Given the description of an element on the screen output the (x, y) to click on. 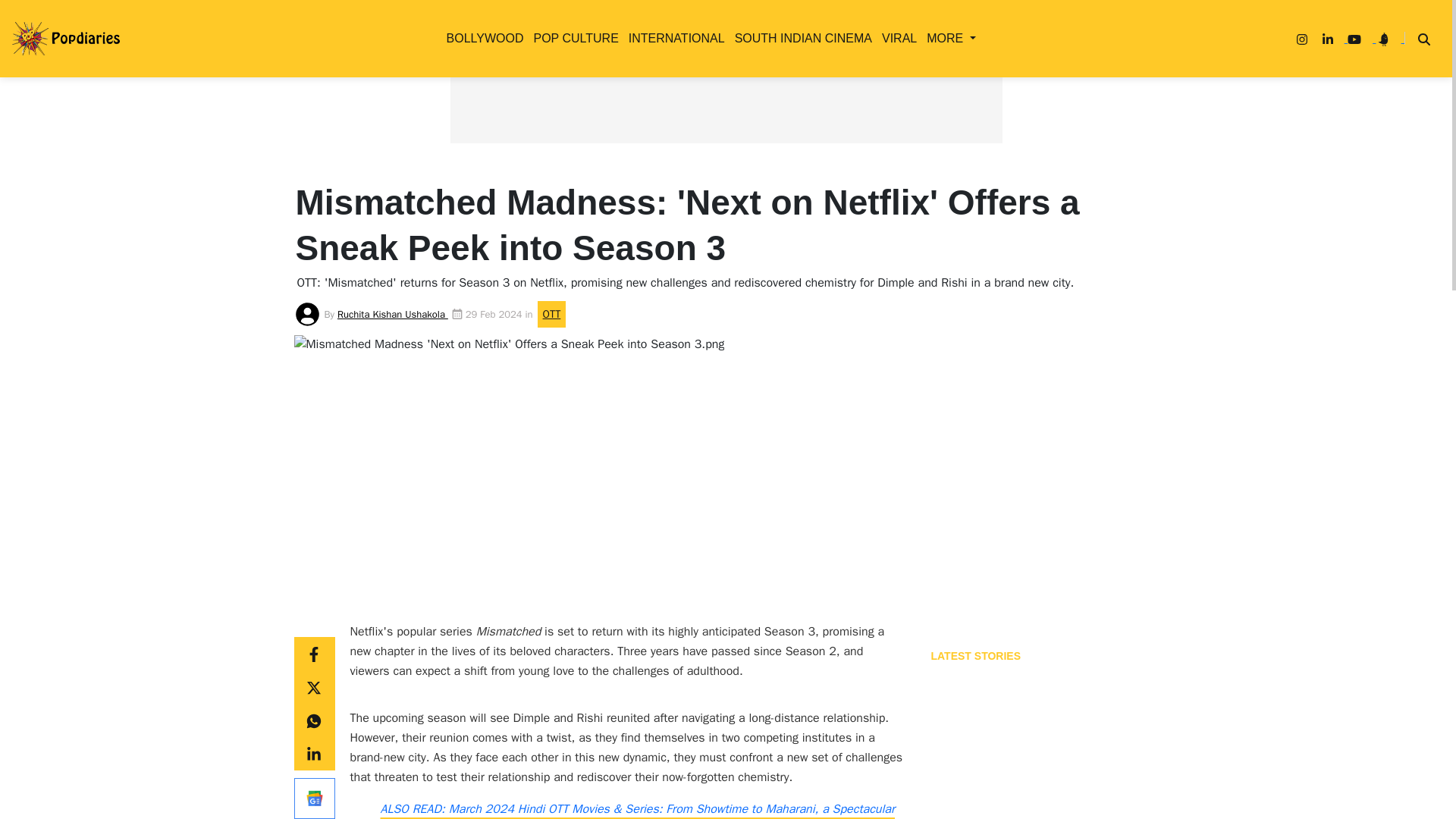
INTERNATIONAL (674, 38)
Ruchita Kishan Ushakola (392, 314)
SOUTH INDIAN CINEMA (800, 38)
OTT (423, 241)
BOLLYWOOD (482, 38)
POP CULTURE (572, 38)
